Given the description of an element on the screen output the (x, y) to click on. 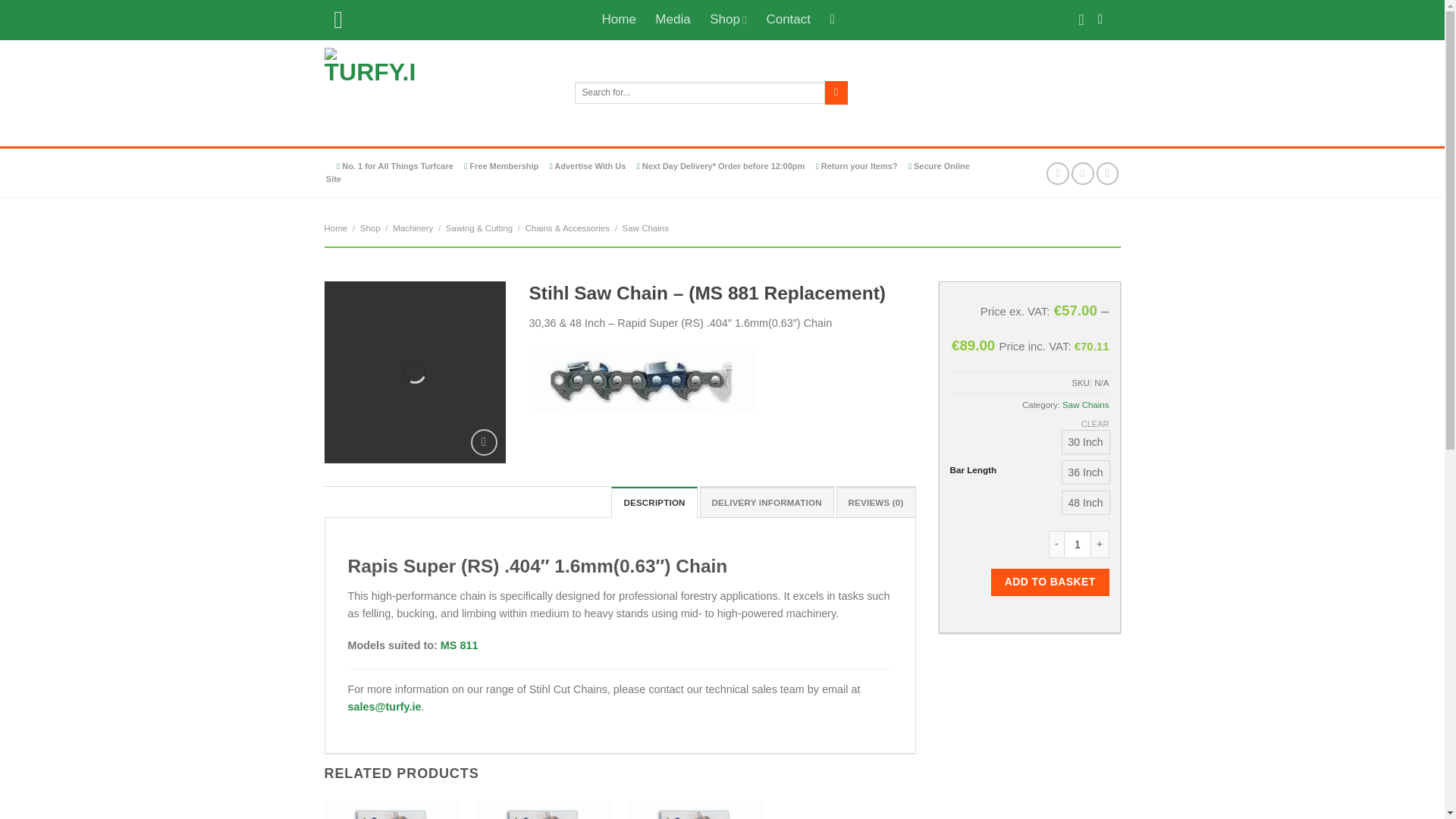
Home (619, 20)
Share on Facebook (1057, 173)
- (1056, 543)
Media (673, 20)
Basket (837, 19)
Email to a Friend (1107, 173)
Zoom (483, 442)
Login (1104, 19)
Shop (727, 20)
1 (1077, 543)
Share on Twitter (1082, 173)
